Given the description of an element on the screen output the (x, y) to click on. 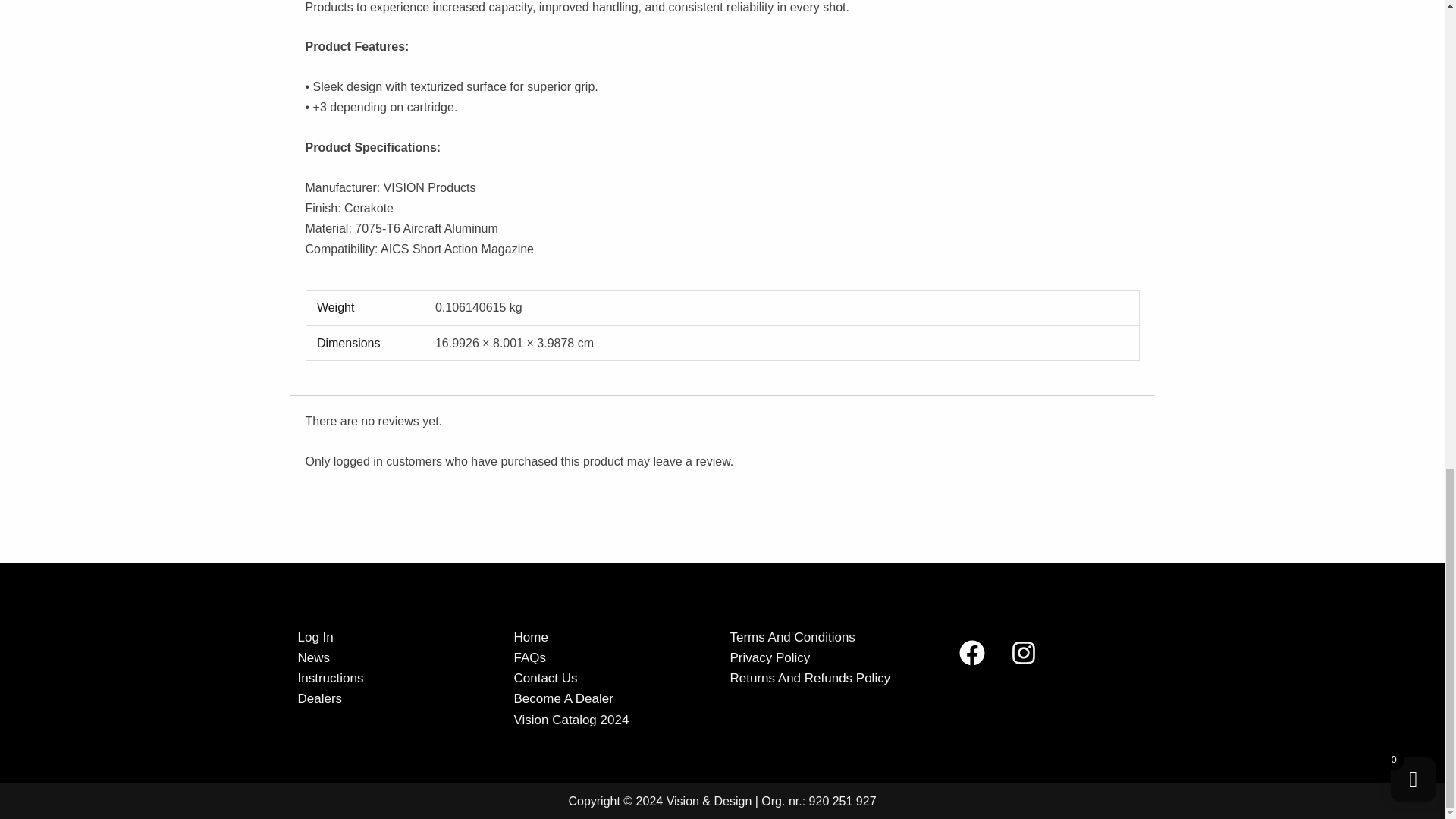
Instructions (329, 678)
News (313, 657)
Dealers (319, 698)
Log In (315, 637)
